Given the description of an element on the screen output the (x, y) to click on. 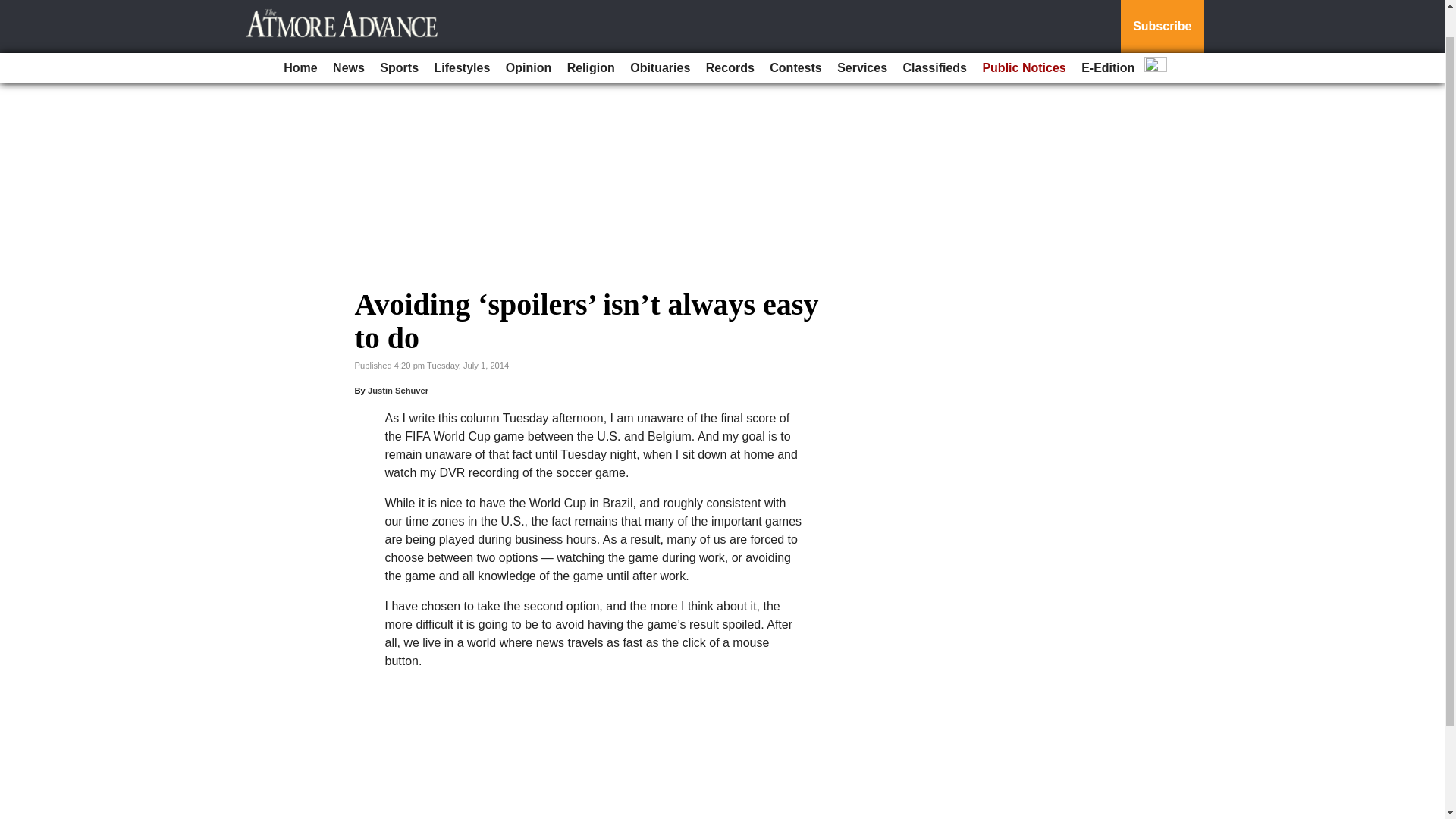
Religion (590, 37)
Subscribe (1162, 11)
Opinion (528, 37)
Classifieds (934, 37)
Services (862, 37)
Sports (399, 37)
Lifestyles (462, 37)
Obituaries (659, 37)
News (348, 37)
Justin Schuver (398, 389)
